Given the description of an element on the screen output the (x, y) to click on. 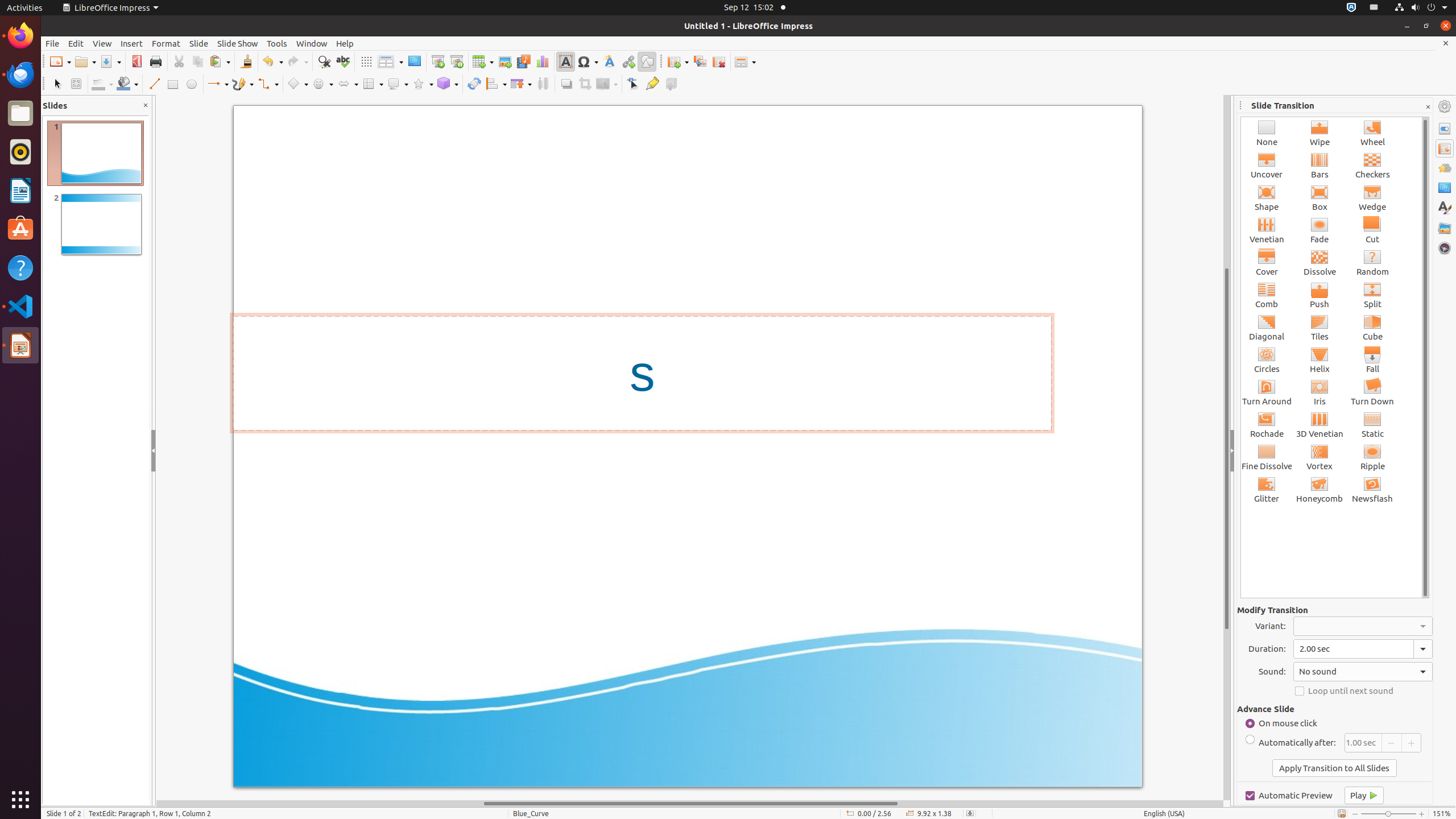
Toggle Extrusion Element type: push-button (670, 83)
Select Element type: push-button (56, 83)
Print Element type: push-button (155, 61)
Helix Element type: list-item (1319, 359)
